Given the description of an element on the screen output the (x, y) to click on. 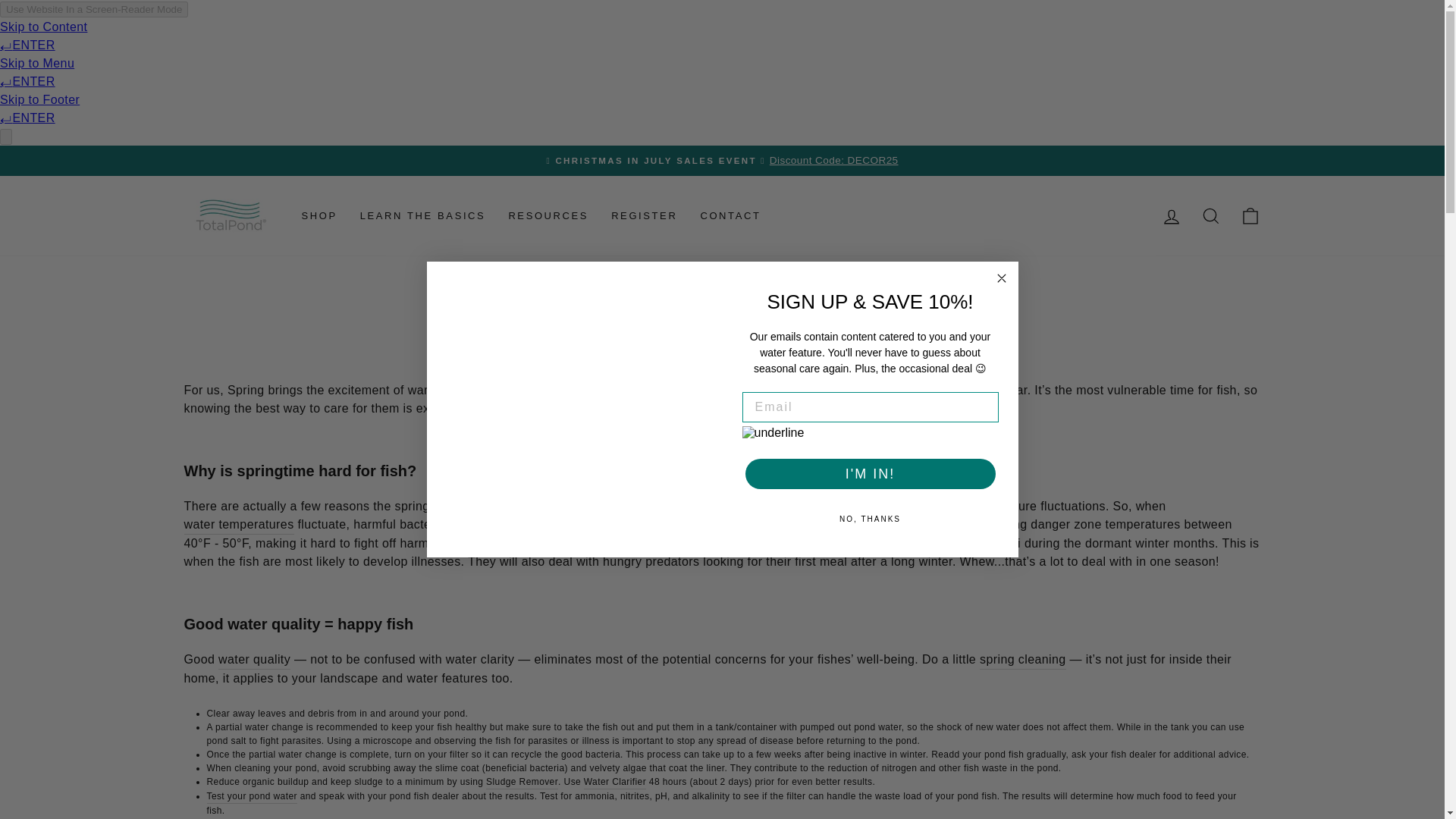
Back to the frontpage (699, 300)
